Given the description of an element on the screen output the (x, y) to click on. 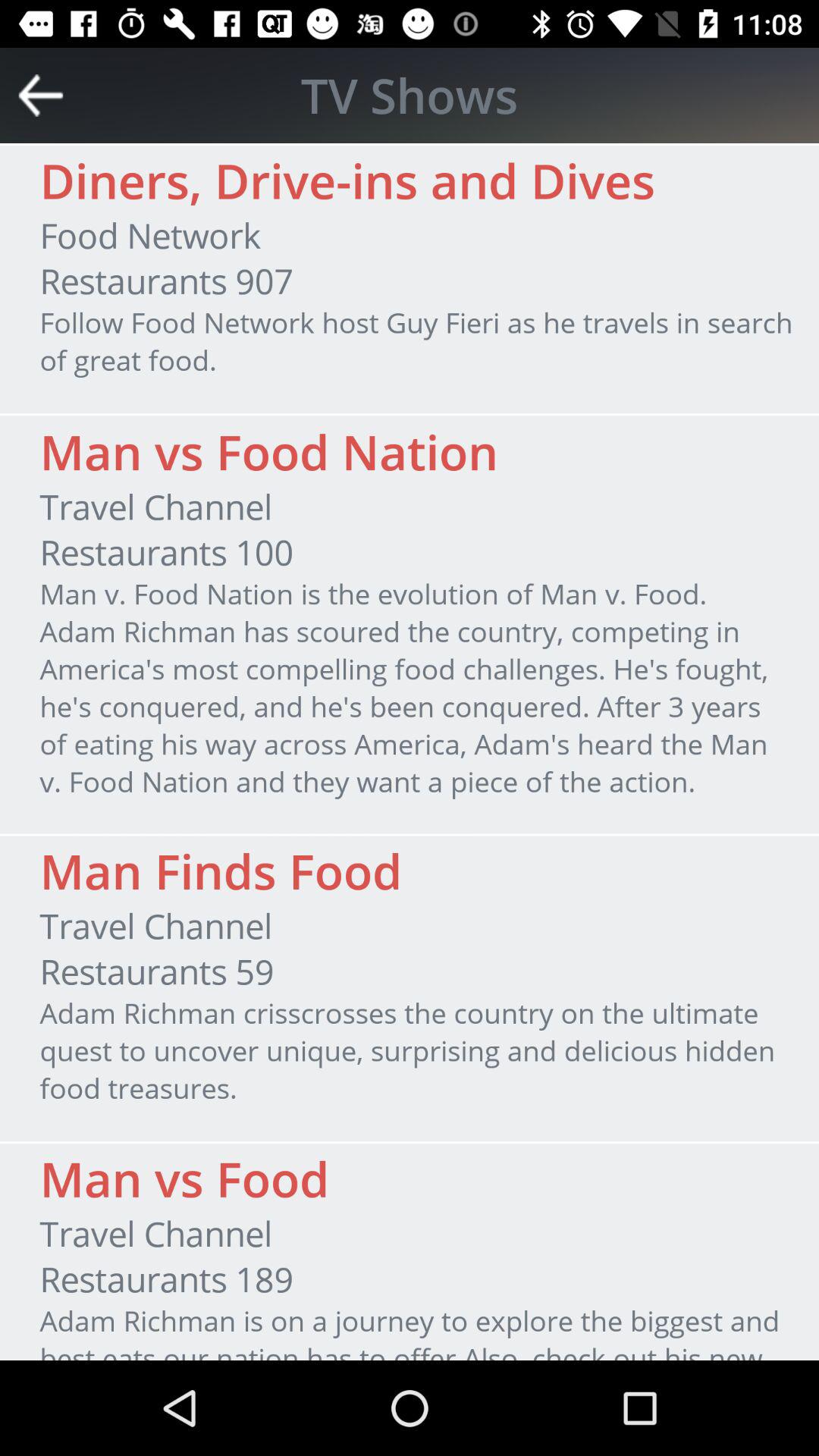
turn on the restaurants 907 icon (166, 280)
